Given the description of an element on the screen output the (x, y) to click on. 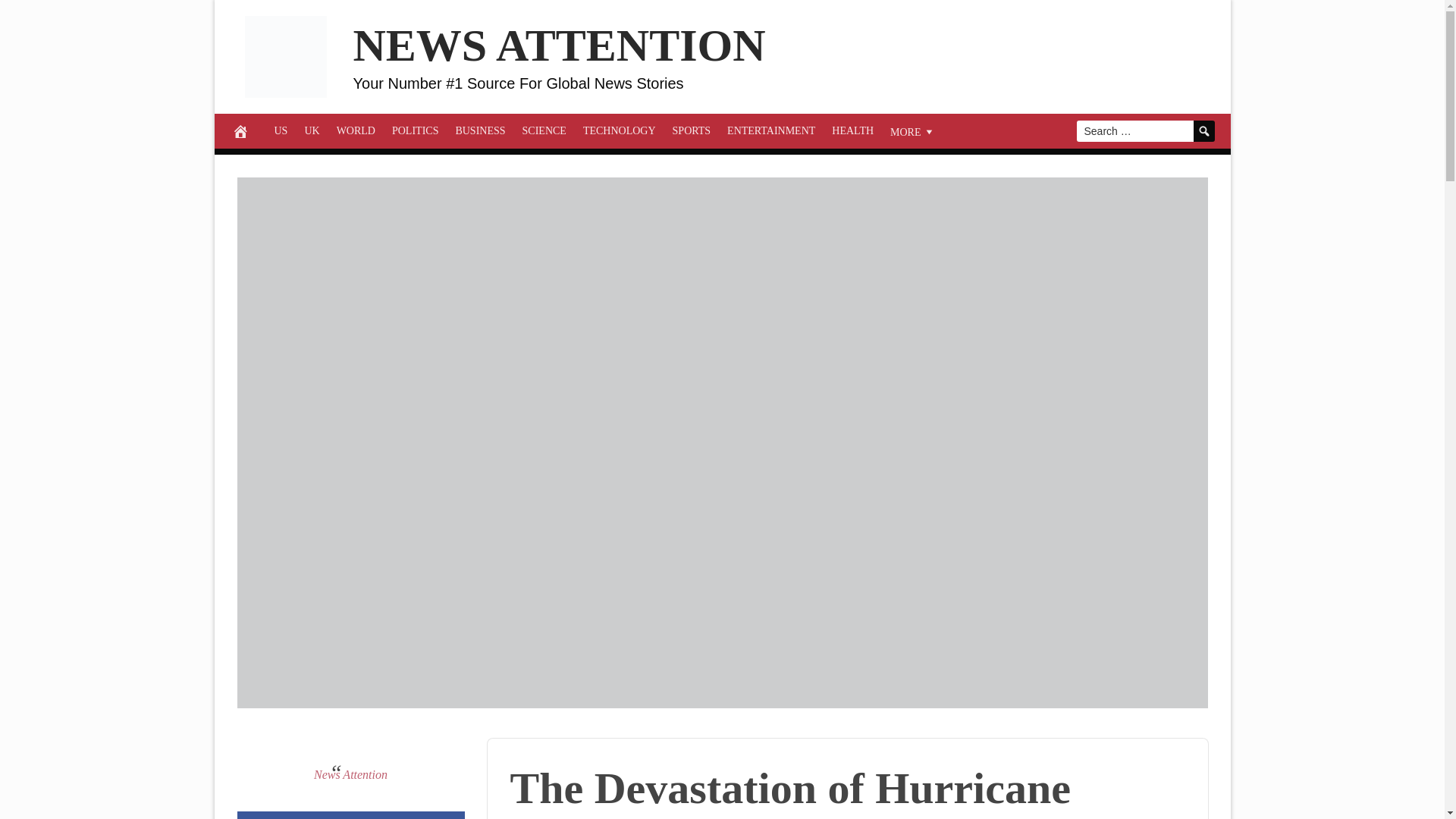
SPORTS (691, 130)
POLITICS (415, 130)
SCIENCE (544, 130)
WORLD (356, 130)
ENTERTAINMENT (771, 130)
BUSINESS (479, 130)
MORE (912, 130)
UK (311, 130)
TECHNOLOGY (619, 130)
